Given the description of an element on the screen output the (x, y) to click on. 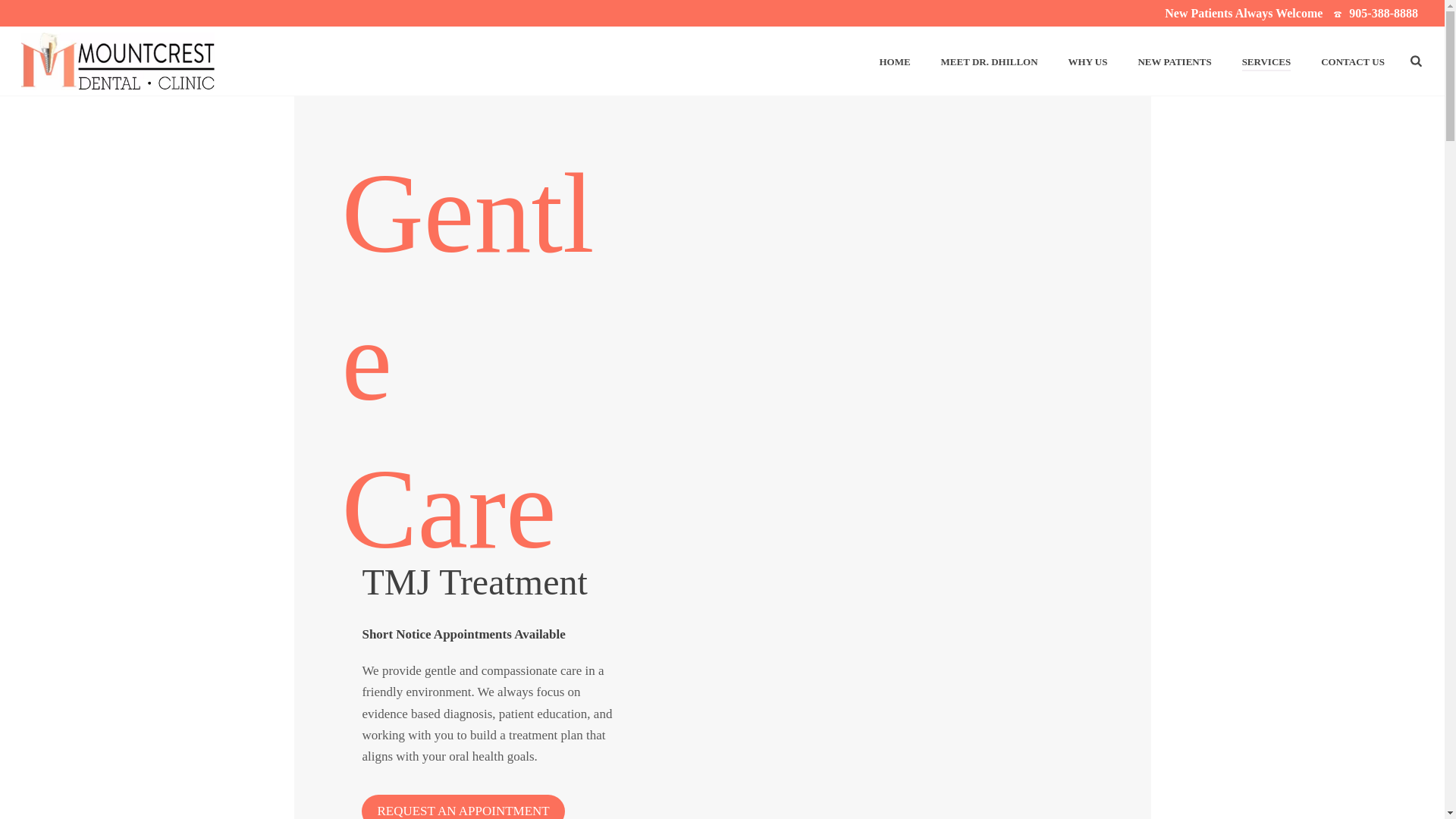
NEW PATIENTS (1173, 62)
WHY US (1087, 62)
CONTACT US (1352, 62)
WHY US (1087, 62)
CONTACT US (1352, 62)
HOME (893, 62)
NEW PATIENTS (1173, 62)
SERVICES (1266, 62)
HOME (893, 62)
MEET DR. DHILLON (989, 62)
MEET DR. DHILLON (989, 62)
905-388-8888 (1383, 12)
SERVICES (1266, 62)
